Given the description of an element on the screen output the (x, y) to click on. 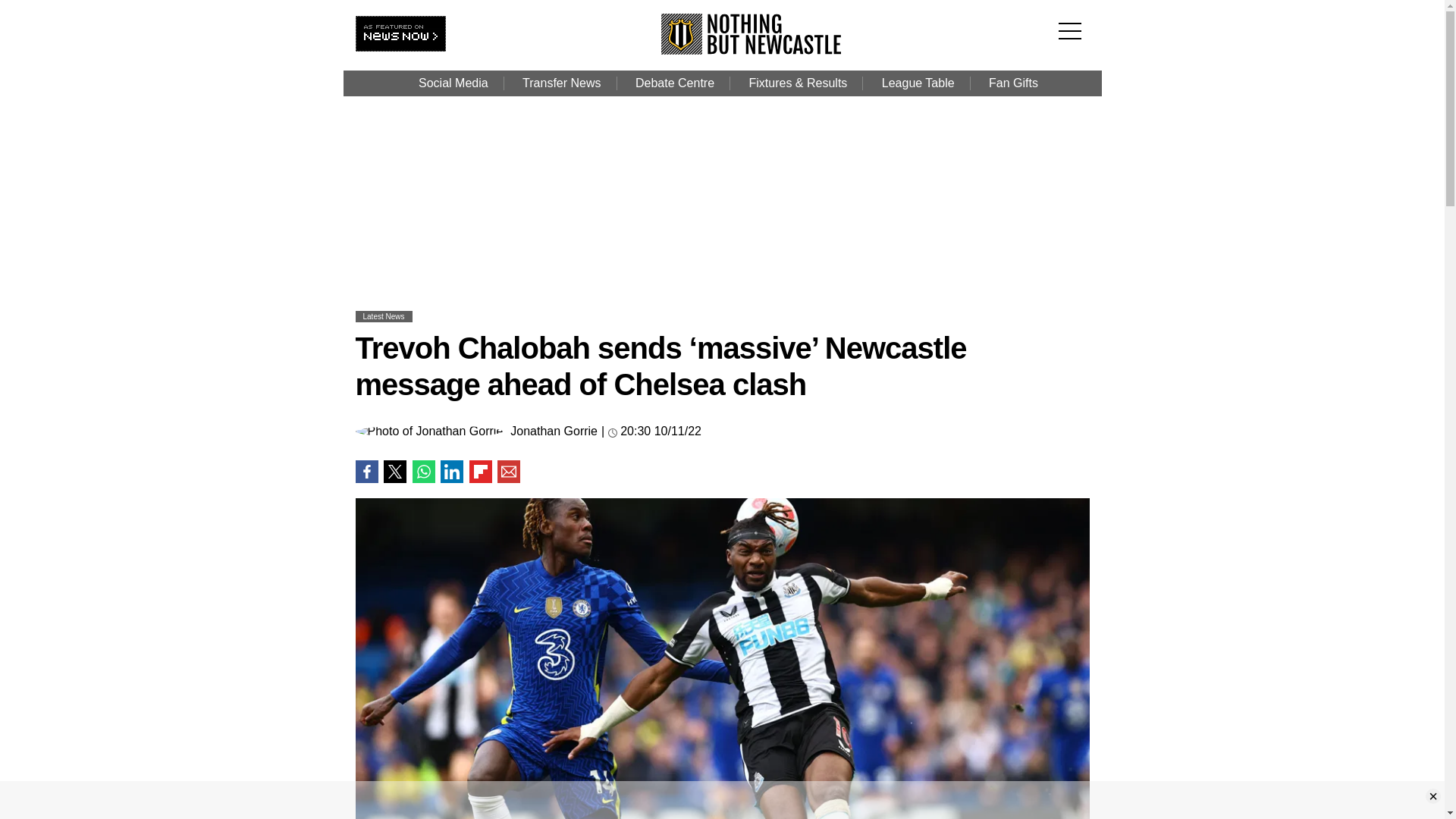
Social Media (453, 83)
Menu (1074, 21)
Debate Centre (674, 83)
Jonathan Gorrie (553, 431)
share on Flipboard (480, 471)
League Table (917, 83)
Back to the homepage (752, 50)
share on Facebook (366, 471)
share on WhatsApp (423, 471)
Transfer News (560, 83)
Fan Gifts (1013, 83)
share on LinkedIn (452, 471)
share on Twitter (395, 471)
Latest News (383, 316)
share on Email (508, 471)
